Given the description of an element on the screen output the (x, y) to click on. 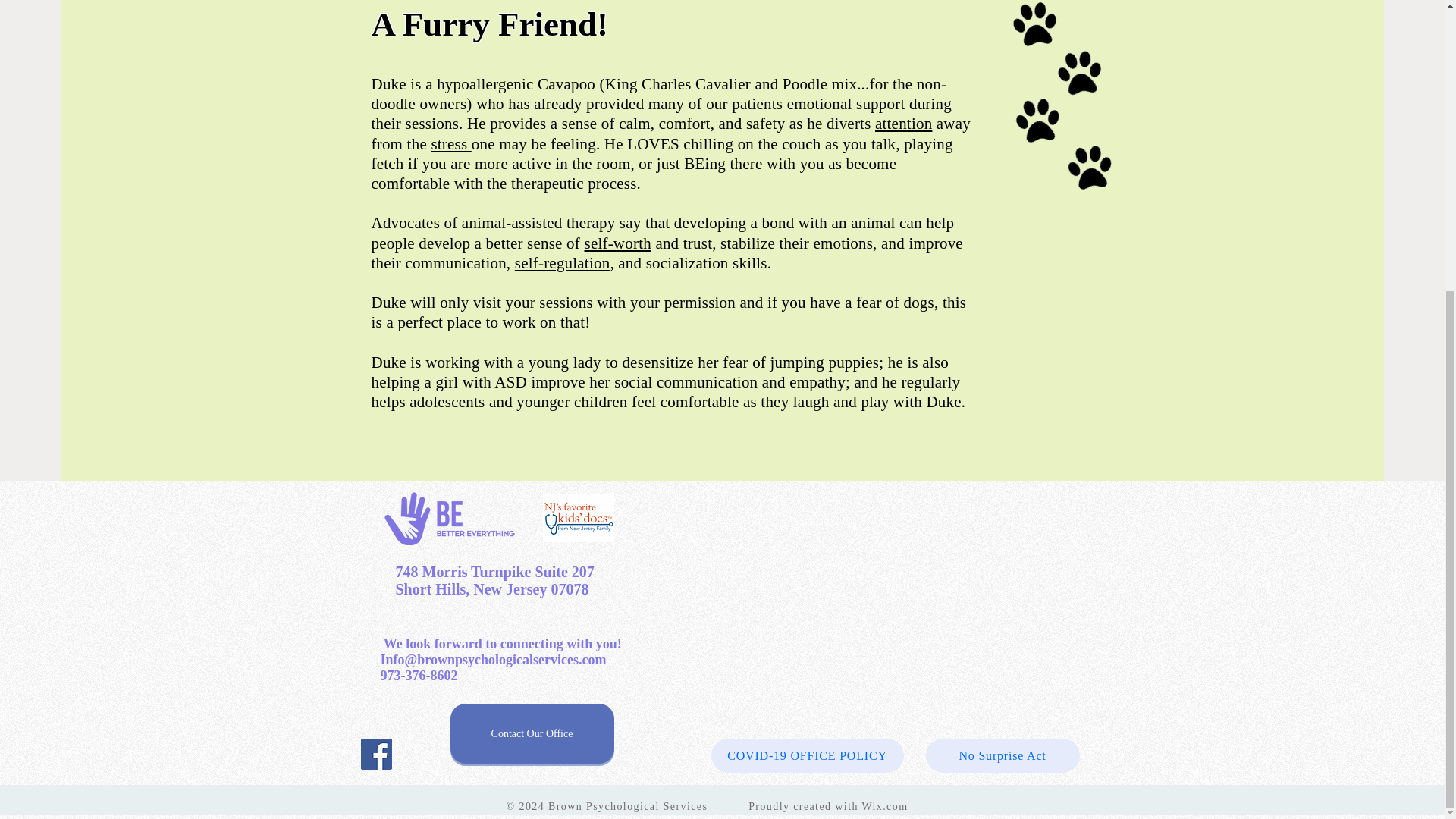
attention (903, 123)
stress (450, 144)
Wix.com (884, 806)
COVID-19 OFFICE POLICY (807, 755)
self-regulation (562, 262)
self-worth (616, 242)
Contact Our Office (531, 733)
No Surprise Act (1001, 755)
